Given the description of an element on the screen output the (x, y) to click on. 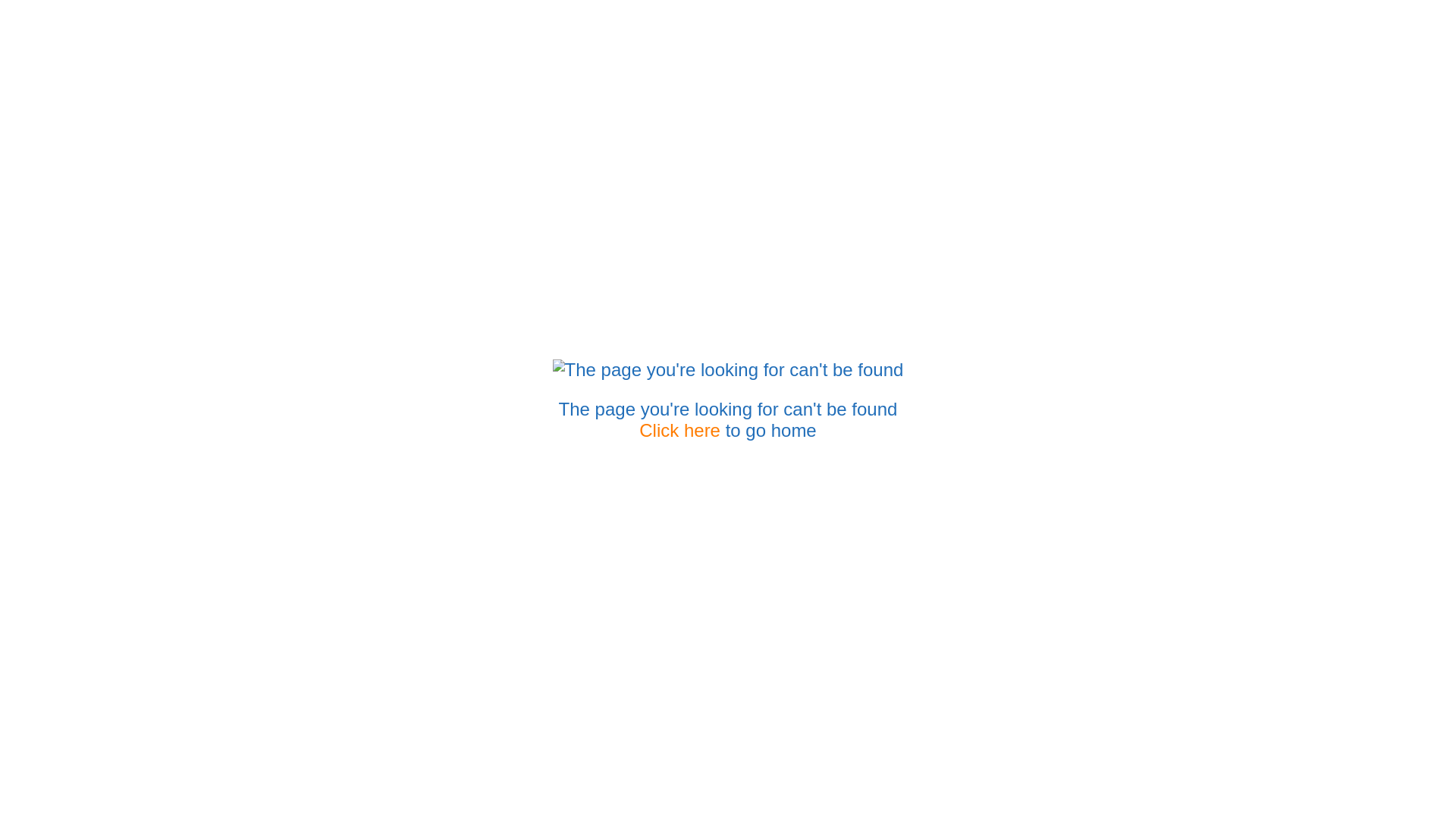
Click here Element type: text (679, 430)
